Given the description of an element on the screen output the (x, y) to click on. 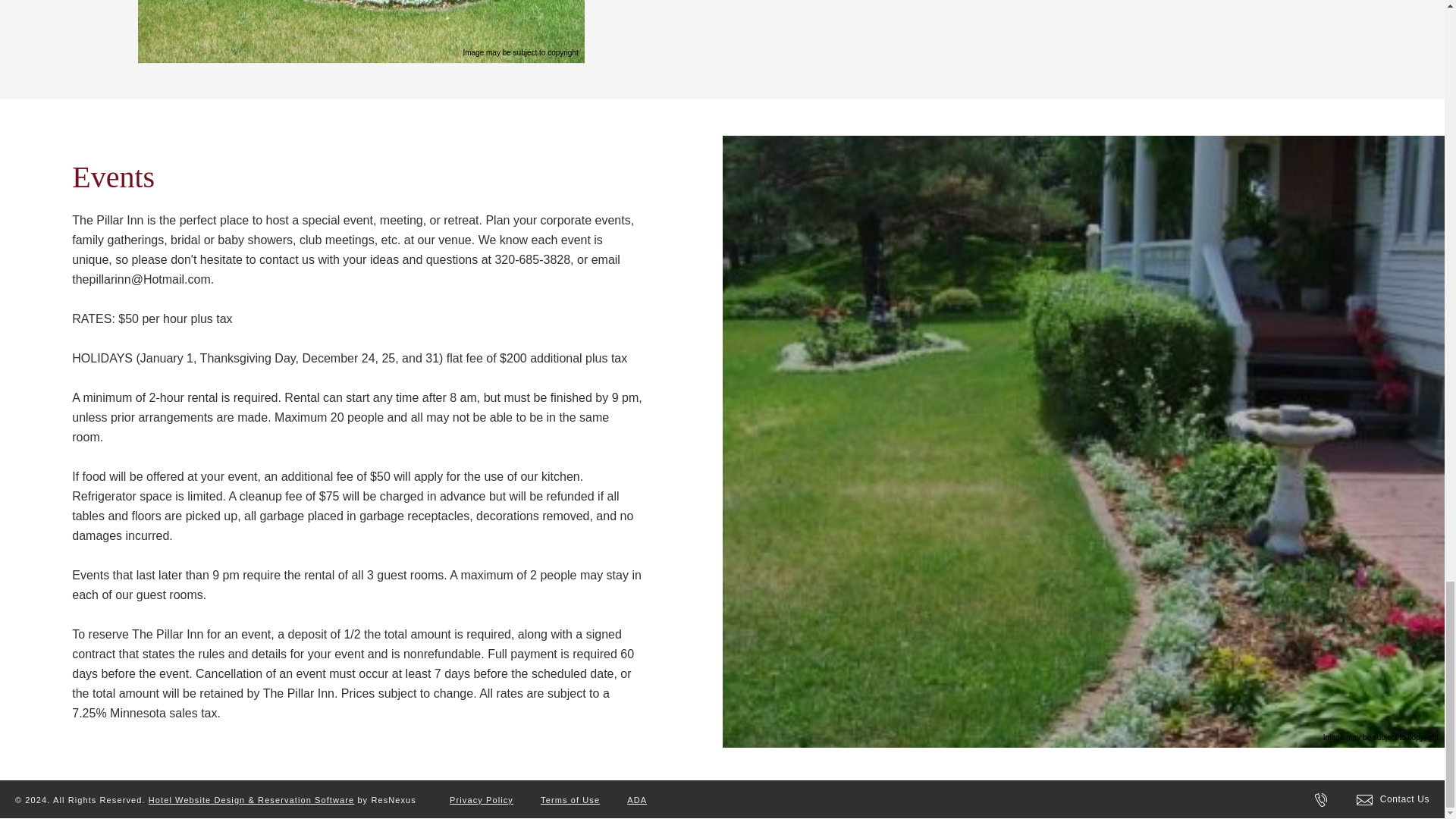
Privacy Policy (481, 799)
gazebo with flowers in the front (361, 31)
Contact Us (1392, 798)
Terms of Use (569, 799)
ADA (636, 799)
